Given the description of an element on the screen output the (x, y) to click on. 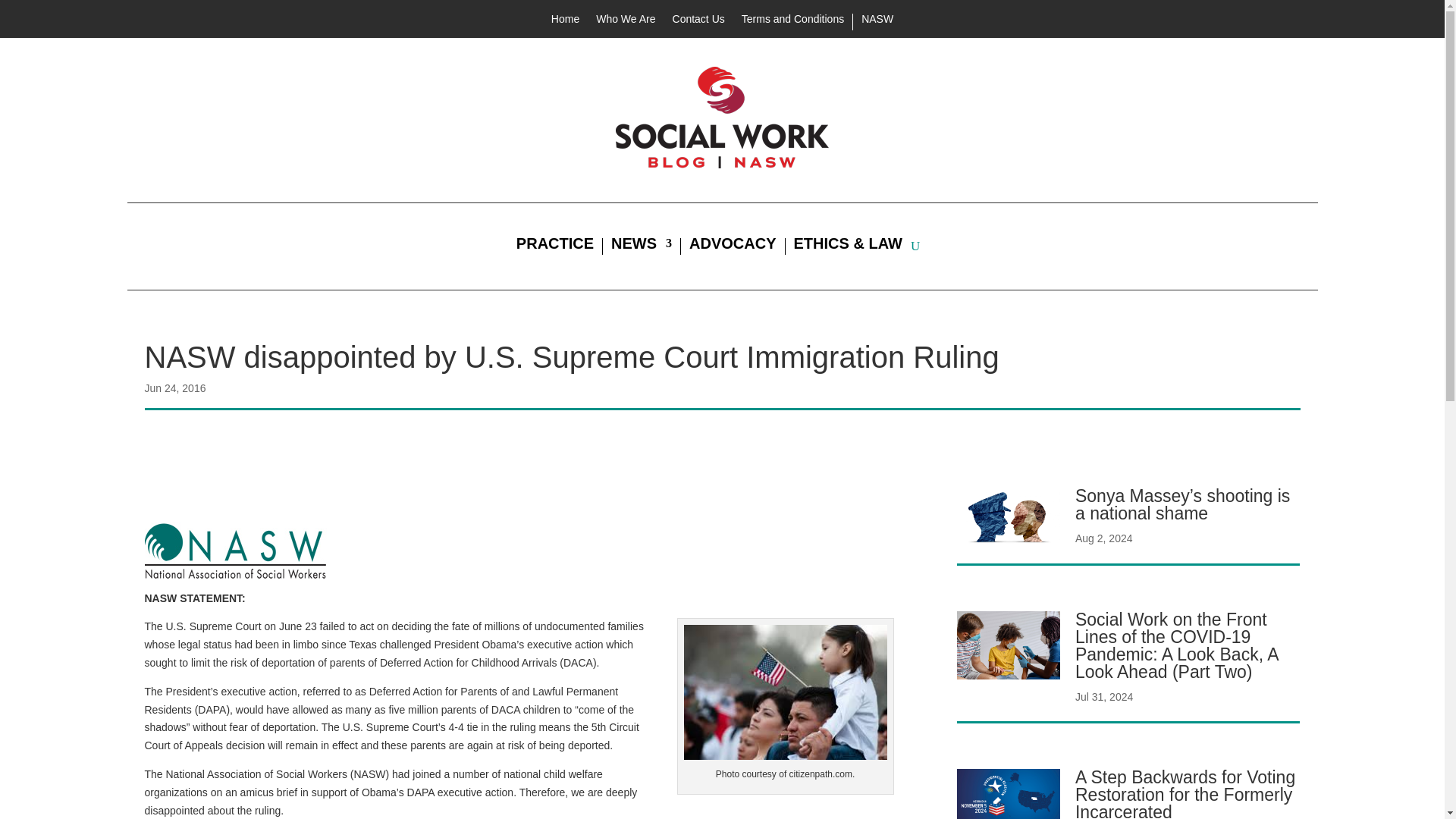
Who We Are (625, 21)
Contact Us (698, 21)
PRACTICE (555, 246)
Home (565, 21)
Terms and Conditions (792, 21)
NASW (877, 21)
ADVOCACY (732, 246)
NEWS (641, 246)
